Given the description of an element on the screen output the (x, y) to click on. 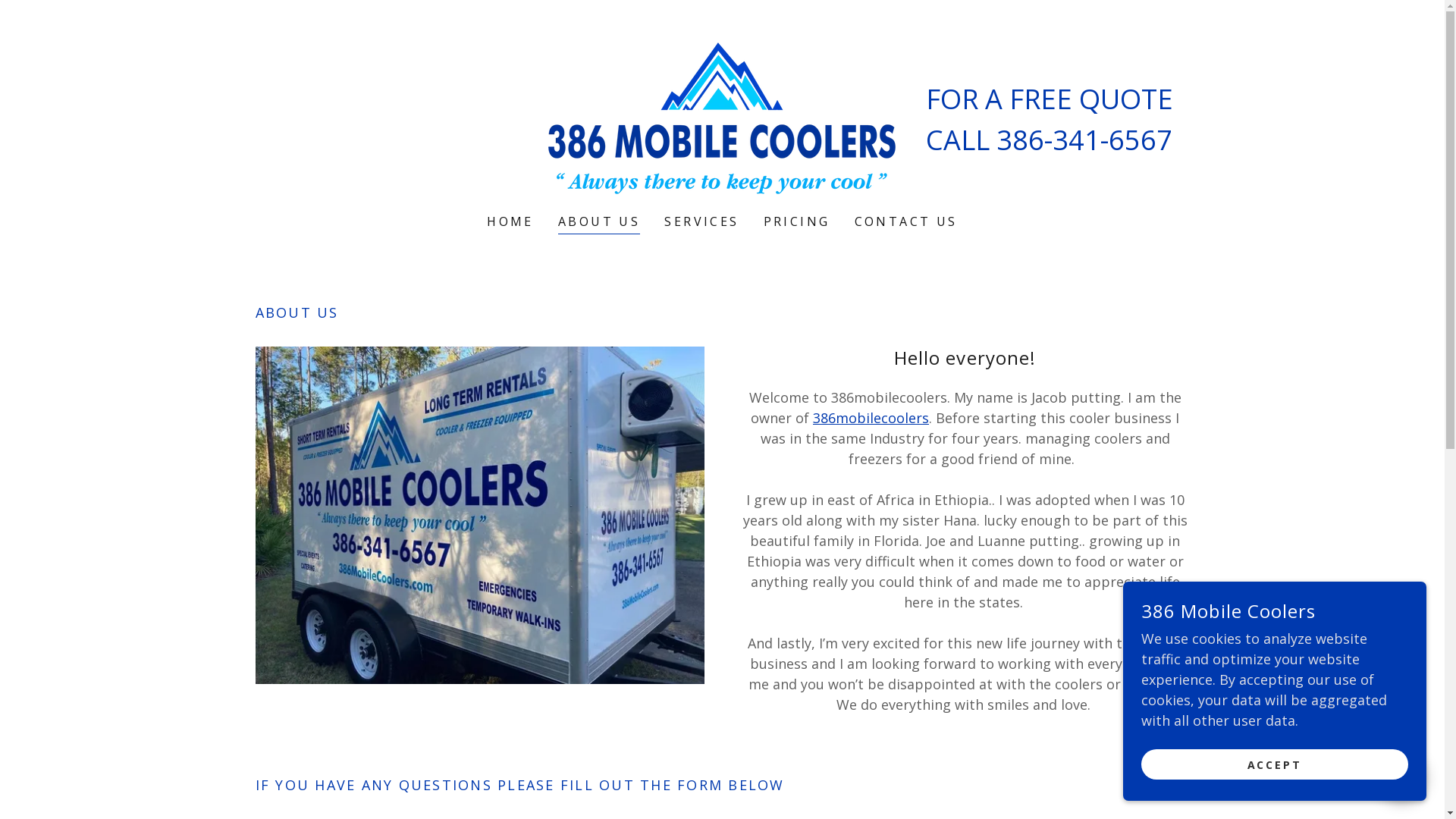
386-341-6567 Element type: text (1084, 139)
CONTACT US Element type: text (906, 221)
PRICING Element type: text (796, 221)
ABOUT US Element type: text (599, 223)
386mobilecoolers Element type: text (870, 417)
HOME Element type: text (510, 221)
ACCEPT Element type: text (1274, 764)
SERVICES Element type: text (701, 221)
